Given the description of an element on the screen output the (x, y) to click on. 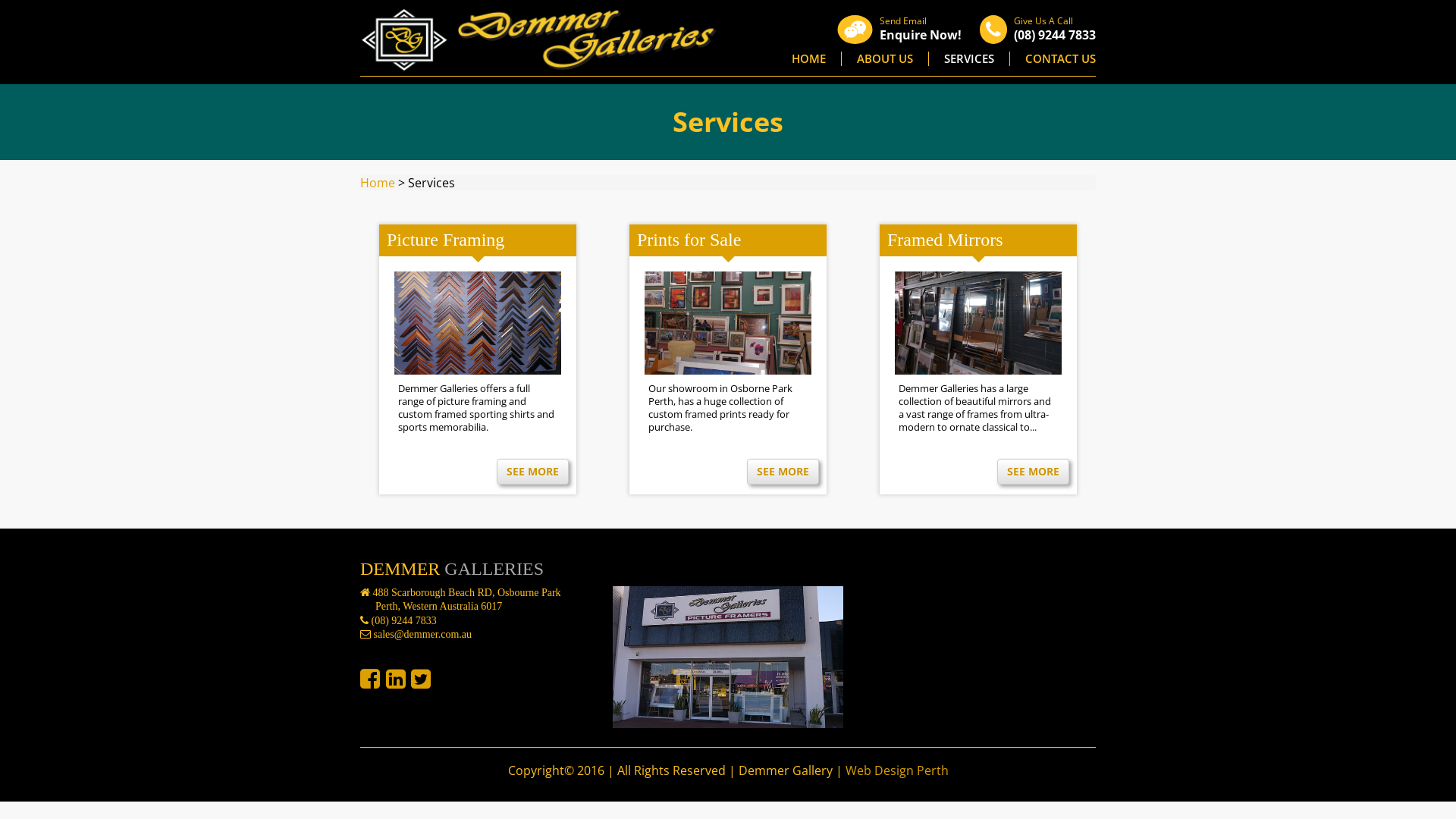
Home Element type: text (377, 182)
SERVICES Element type: text (969, 58)
(08) 9244 7833 Element type: text (1054, 35)
SEE MORE Element type: text (532, 471)
HOME Element type: text (808, 58)
SEE MORE Element type: text (782, 471)
Picture Framing Element type: text (445, 239)
Web Design Perth Element type: text (895, 770)
ABOUT US Element type: text (884, 58)
SEE MORE Element type: text (1033, 471)
Prints for Sale Element type: text (688, 239)
Framed Mirrors Element type: text (945, 239)
Enquire Now! Element type: text (920, 35)
CONTACT US Element type: text (1060, 58)
